Given the description of an element on the screen output the (x, y) to click on. 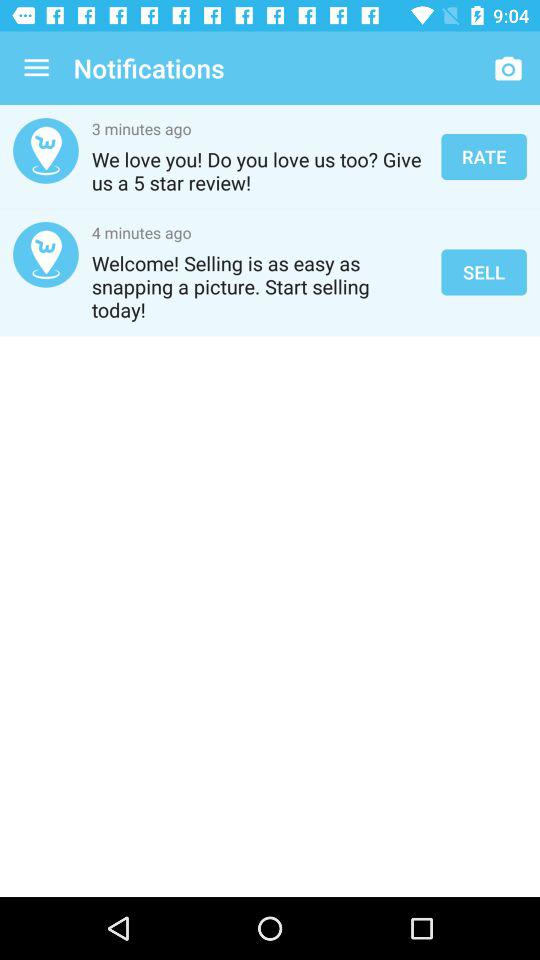
tap the welcome selling is icon (259, 286)
